Given the description of an element on the screen output the (x, y) to click on. 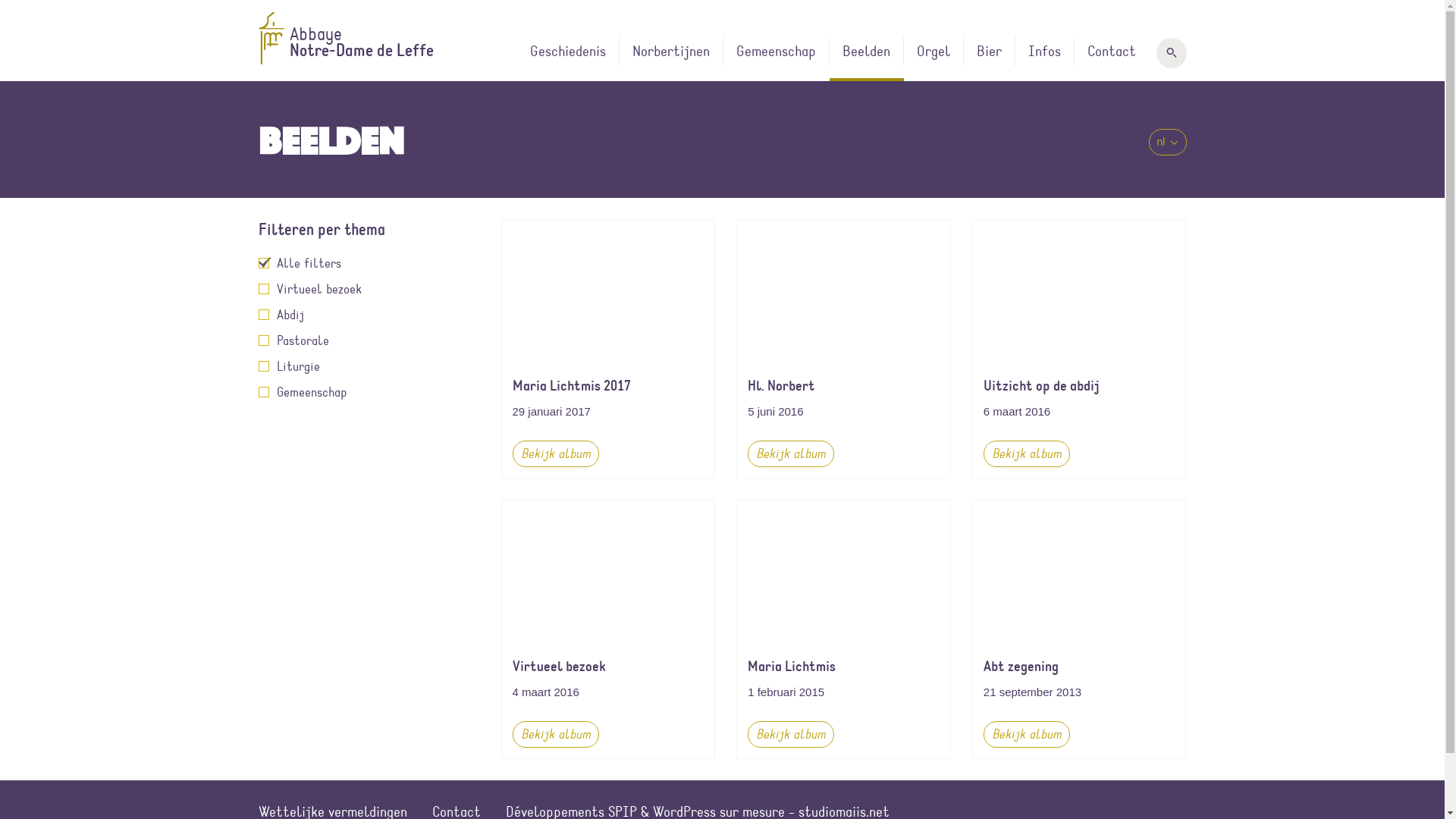
Beelden Element type: text (866, 59)
Orgel Element type: text (933, 59)
Contact Element type: text (1110, 59)
Infos Element type: text (1043, 59)
Maria Lichtmis
1 februari 2015
Bekijk album Element type: text (843, 629)
Bier Element type: text (988, 59)
Uitzicht op de abdij
6 maart 2016
Bekijk album Element type: text (1079, 348)
Maria Lichtmis 2017
29 januari 2017
Bekijk album Element type: text (607, 348)
Hl. Norbert
5 juni 2016
Bekijk album Element type: text (843, 348)
Abbaye
Notre-Dame de Leffe Element type: text (359, 37)
Heiligen en grondteksten Element type: text (732, 60)
De gemeenschap Element type: text (836, 60)
Abt zegening
21 september 2013
Bekijk album Element type: text (1079, 629)
Virtueel bezoek
4 maart 2016
Bekijk album Element type: text (607, 629)
De Norbertijnen gisteren en vandaag Element type: text (630, 68)
